Given the description of an element on the screen output the (x, y) to click on. 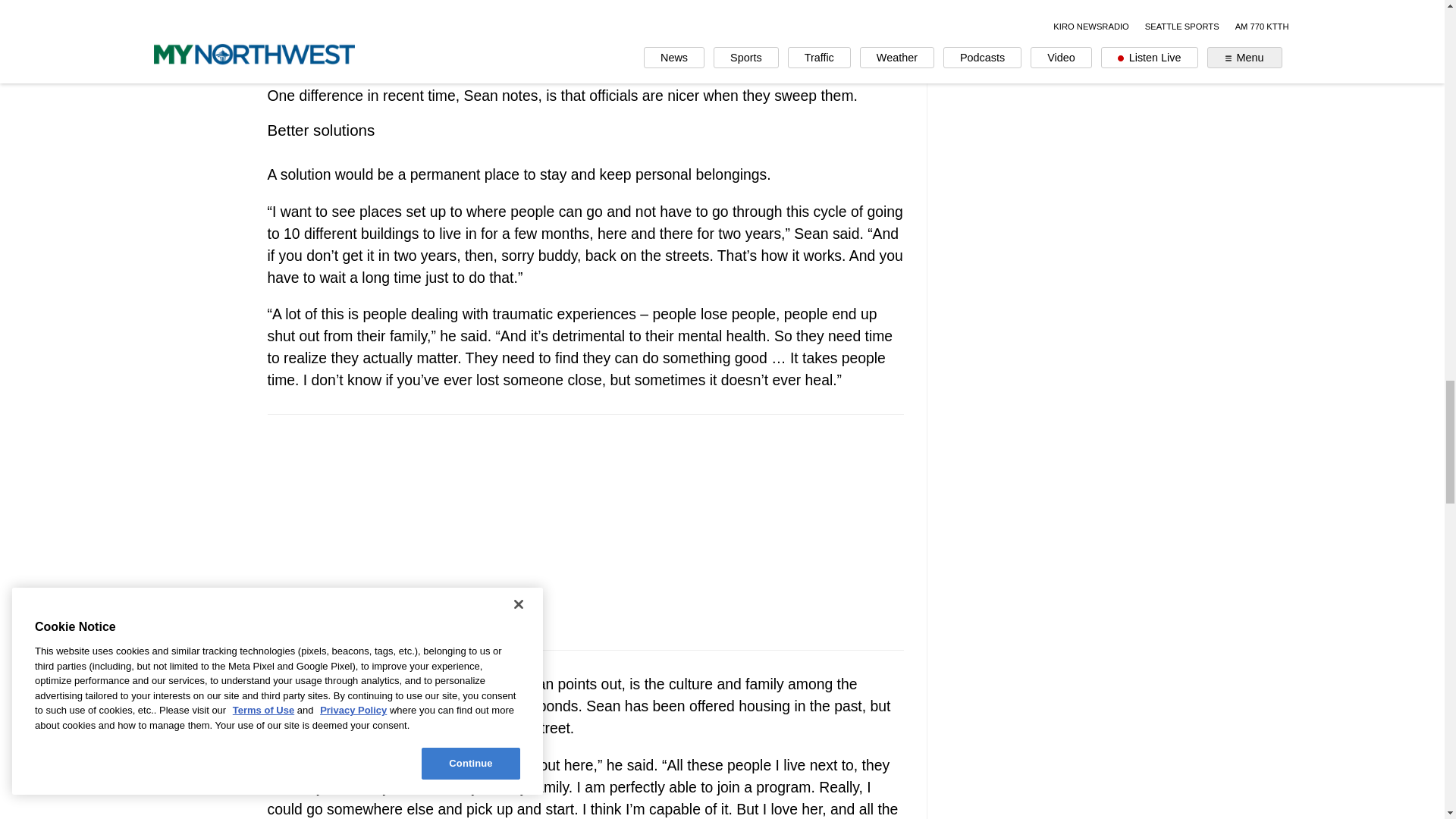
3rd party ad content (584, 532)
3rd party ad content (584, 19)
